Given the description of an element on the screen output the (x, y) to click on. 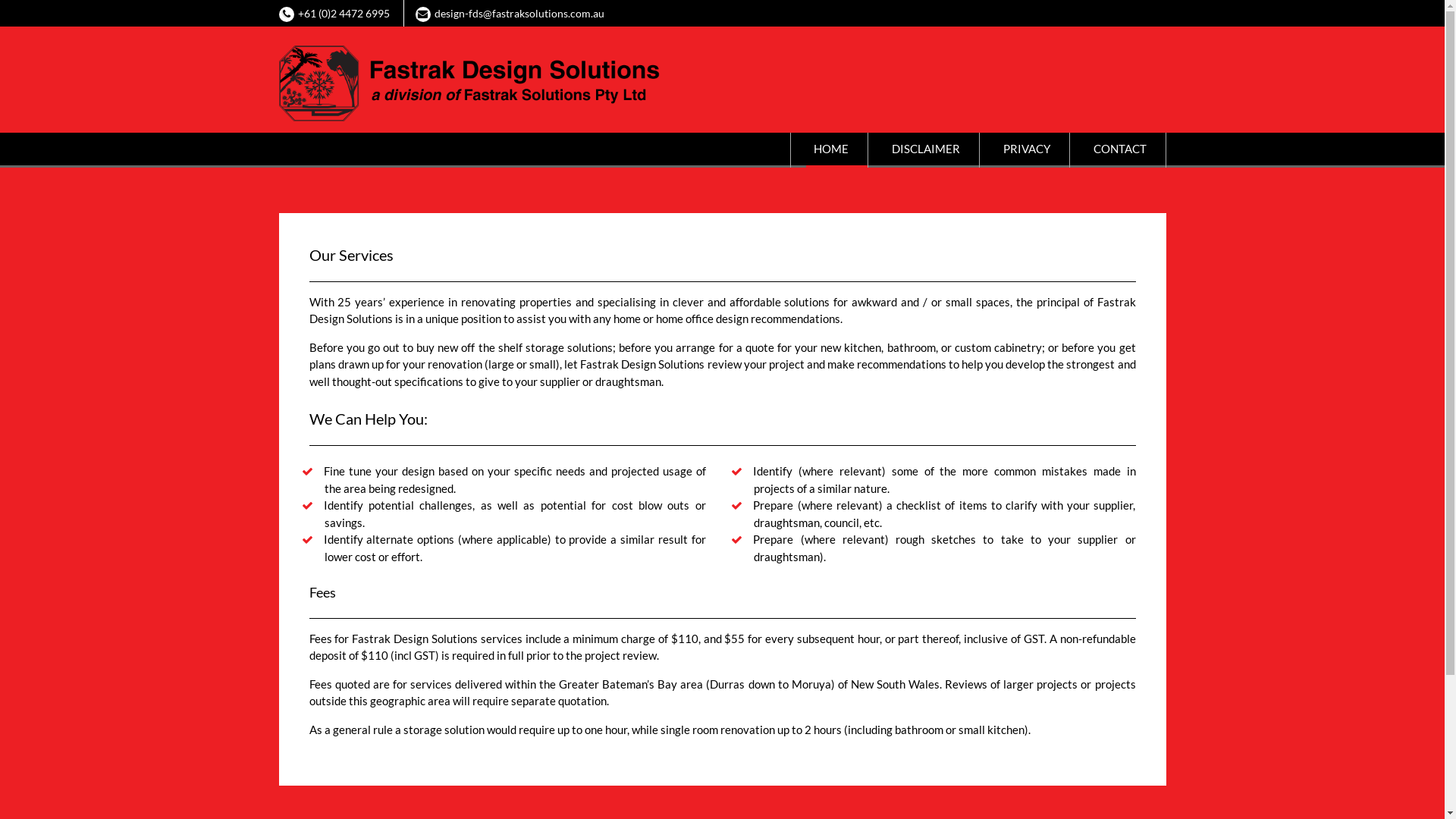
design-fds@fastraksolutions.com.au Element type: text (518, 13)
Skip to content Element type: text (0, 0)
PRIVACY Element type: text (1031, 149)
DISCLAIMER Element type: text (931, 149)
CONTACT Element type: text (1125, 149)
+61 (0)2 4472 6995 Element type: text (343, 13)
HOME Element type: text (835, 149)
